Given the description of an element on the screen output the (x, y) to click on. 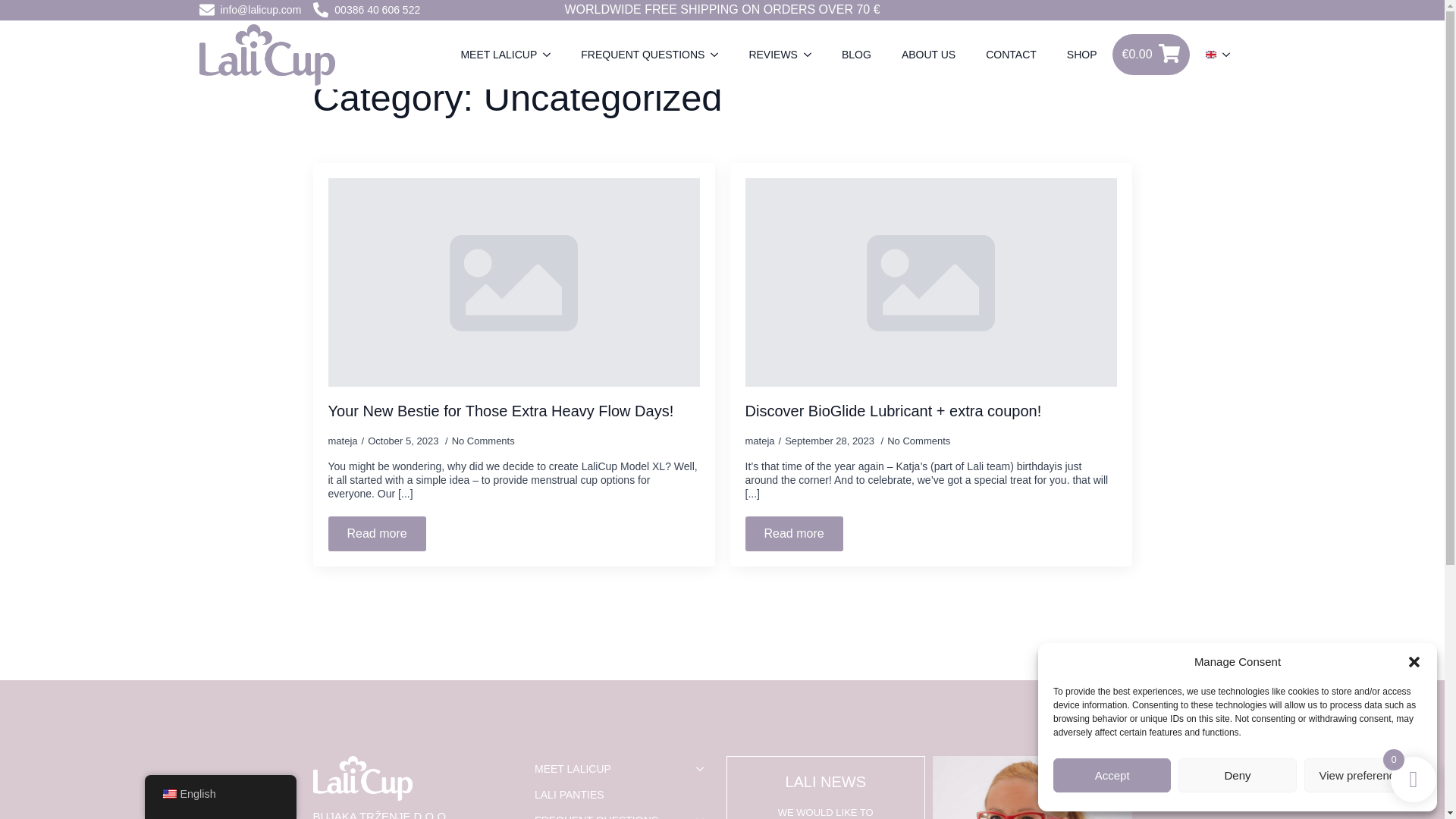
Accept (1111, 775)
ABOUT US (928, 54)
CONTACT (1011, 54)
English (168, 793)
FREQUENT QUESTIONS (635, 54)
Deny (1236, 775)
MEET LALICUP (491, 54)
SHOP (1081, 54)
View preferences (1363, 775)
REVIEWS (765, 54)
00386 40 606 522 (366, 9)
BLOG (856, 54)
